Given the description of an element on the screen output the (x, y) to click on. 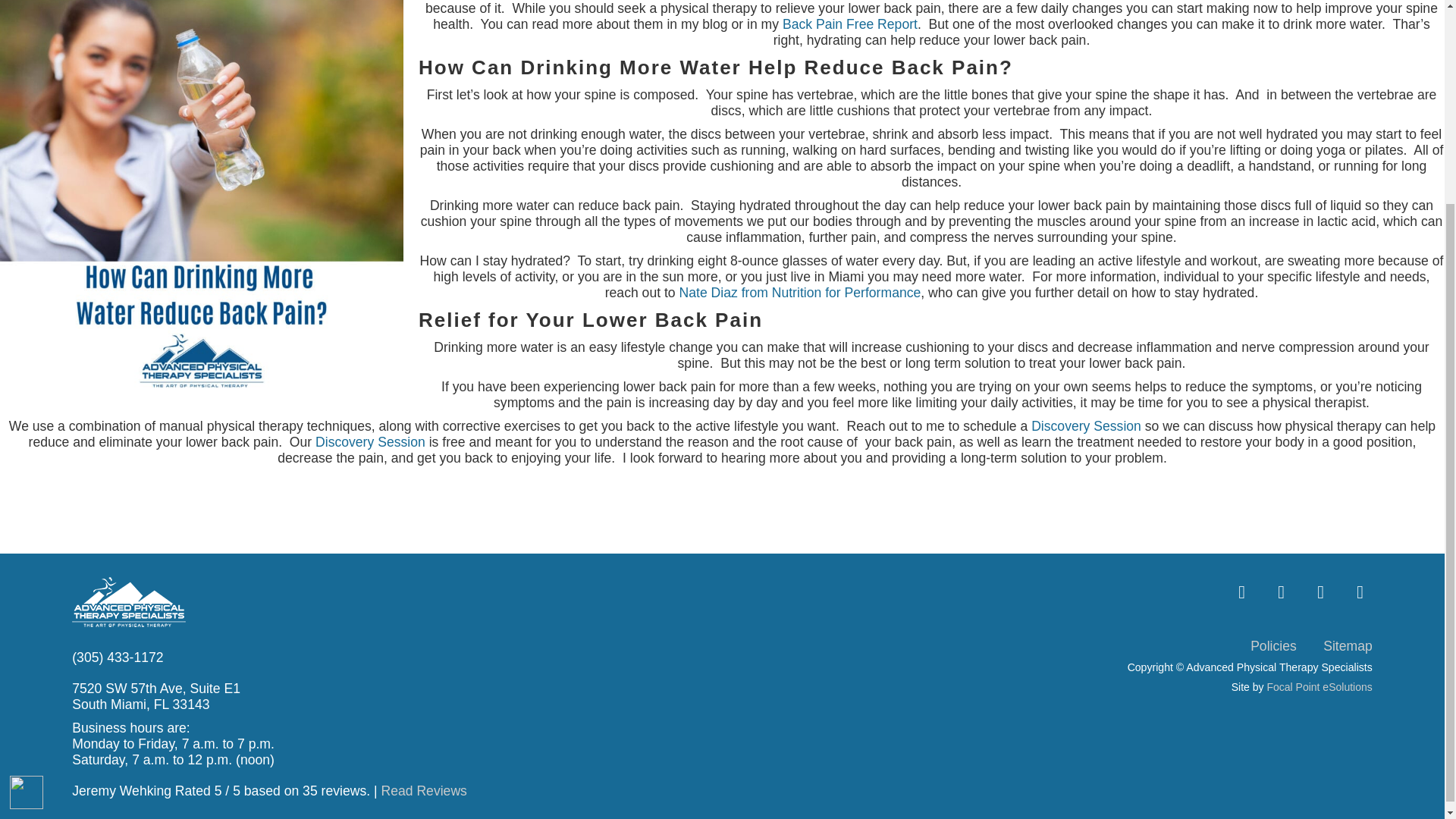
Accessibility Menu (26, 526)
Read Reviews (422, 790)
Follow Advanced Physical Training Specialists on YouTube! (1281, 588)
Tweet with Advanced Physical Training Specialists (1320, 588)
Nate Diaz from Nutrition for Performance (800, 292)
Follow Advanced Physical Training Specialists on Facebook! (1360, 588)
Discovery Session (1085, 426)
Discovery Session (370, 441)
Follow Advanced Physical Training Specialists on Instagram! (1241, 588)
Back Pain Free Report (850, 23)
